Given the description of an element on the screen output the (x, y) to click on. 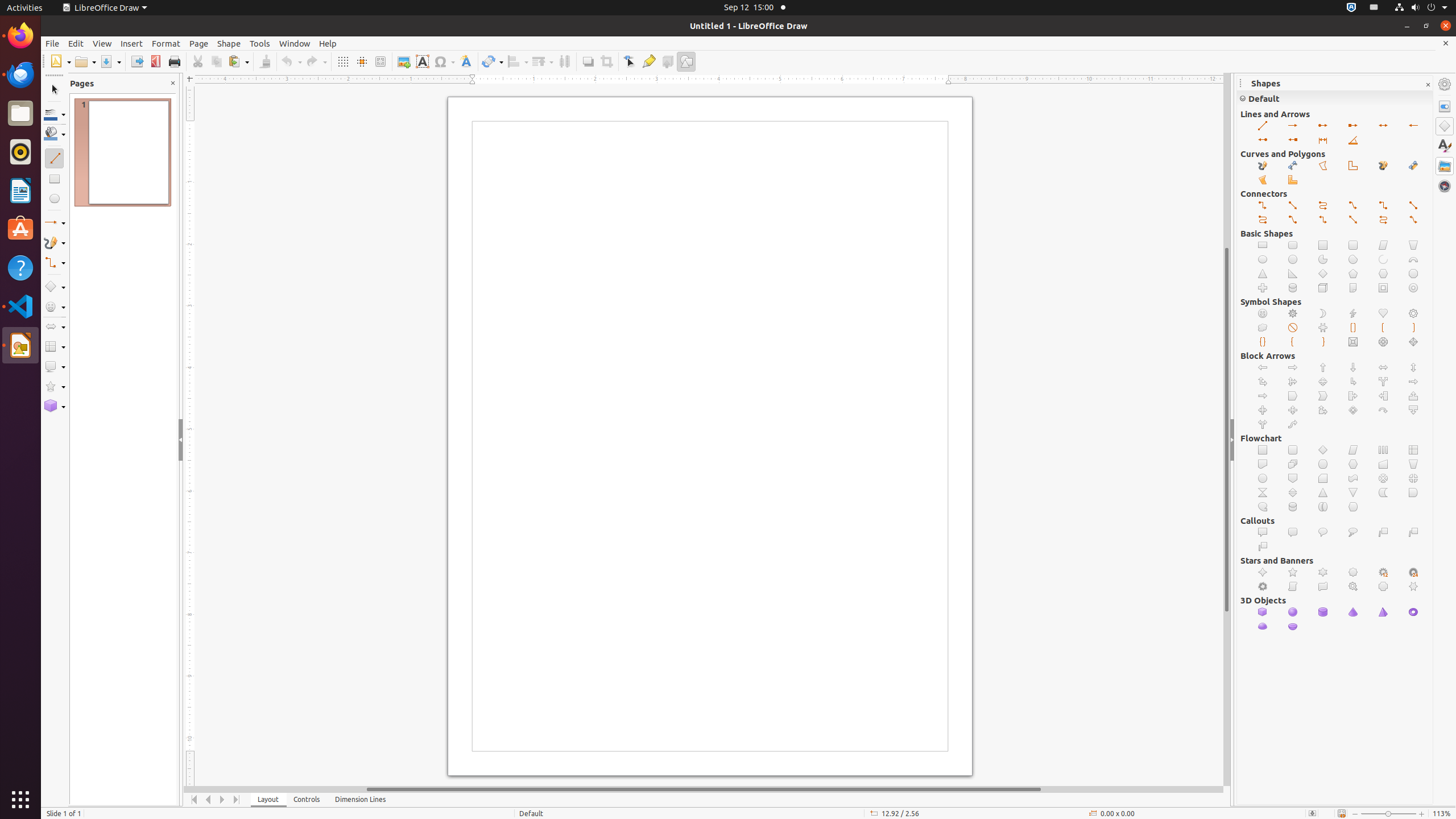
PDF Element type: push-button (155, 61)
Parallelogram Element type: list-item (1383, 245)
Undo Element type: push-button (290, 61)
Corner Right Arrow Element type: list-item (1353, 381)
Edit Points Element type: push-button (629, 61)
